Given the description of an element on the screen output the (x, y) to click on. 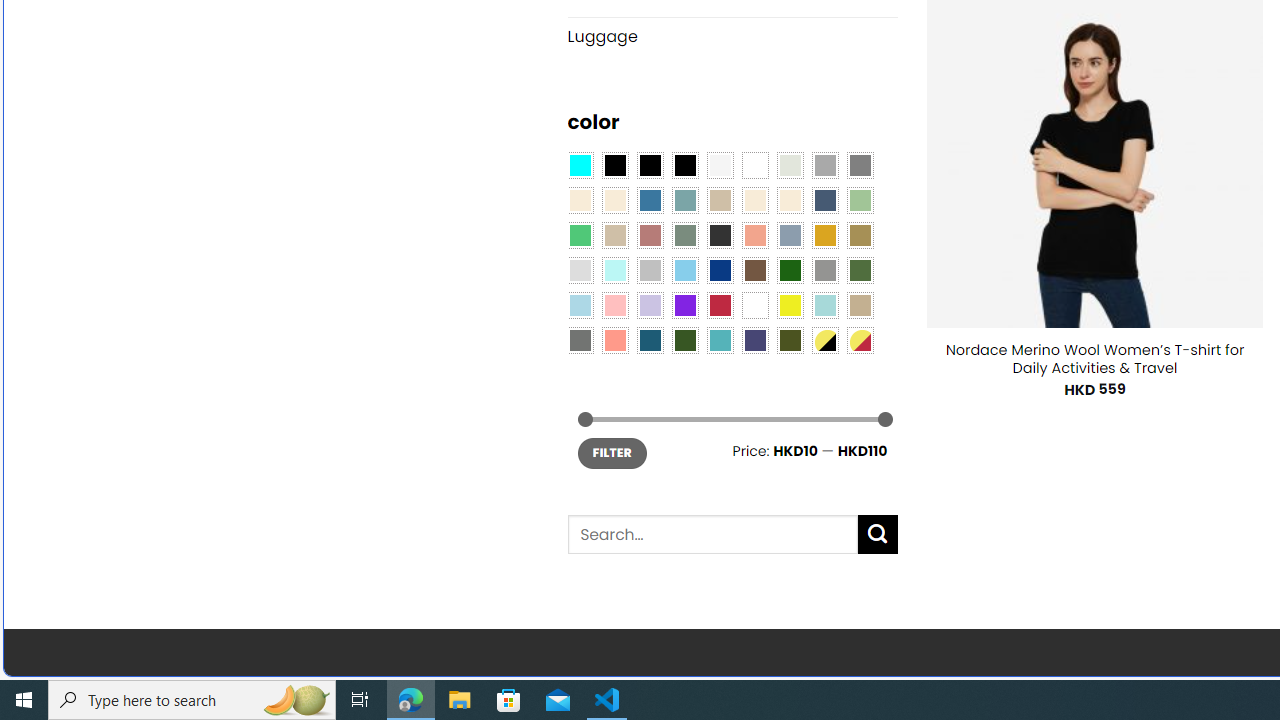
All Black (614, 164)
Cream (789, 200)
Gray (824, 269)
Forest (684, 339)
Ash Gray (789, 164)
Dull Nickle (579, 339)
Beige-Brown (614, 200)
Sky Blue (684, 269)
Beige (579, 200)
Light Blue (579, 305)
Brownie (719, 200)
Yellow-Red (859, 339)
Charcoal (719, 234)
Hale Navy (824, 200)
